Given the description of an element on the screen output the (x, y) to click on. 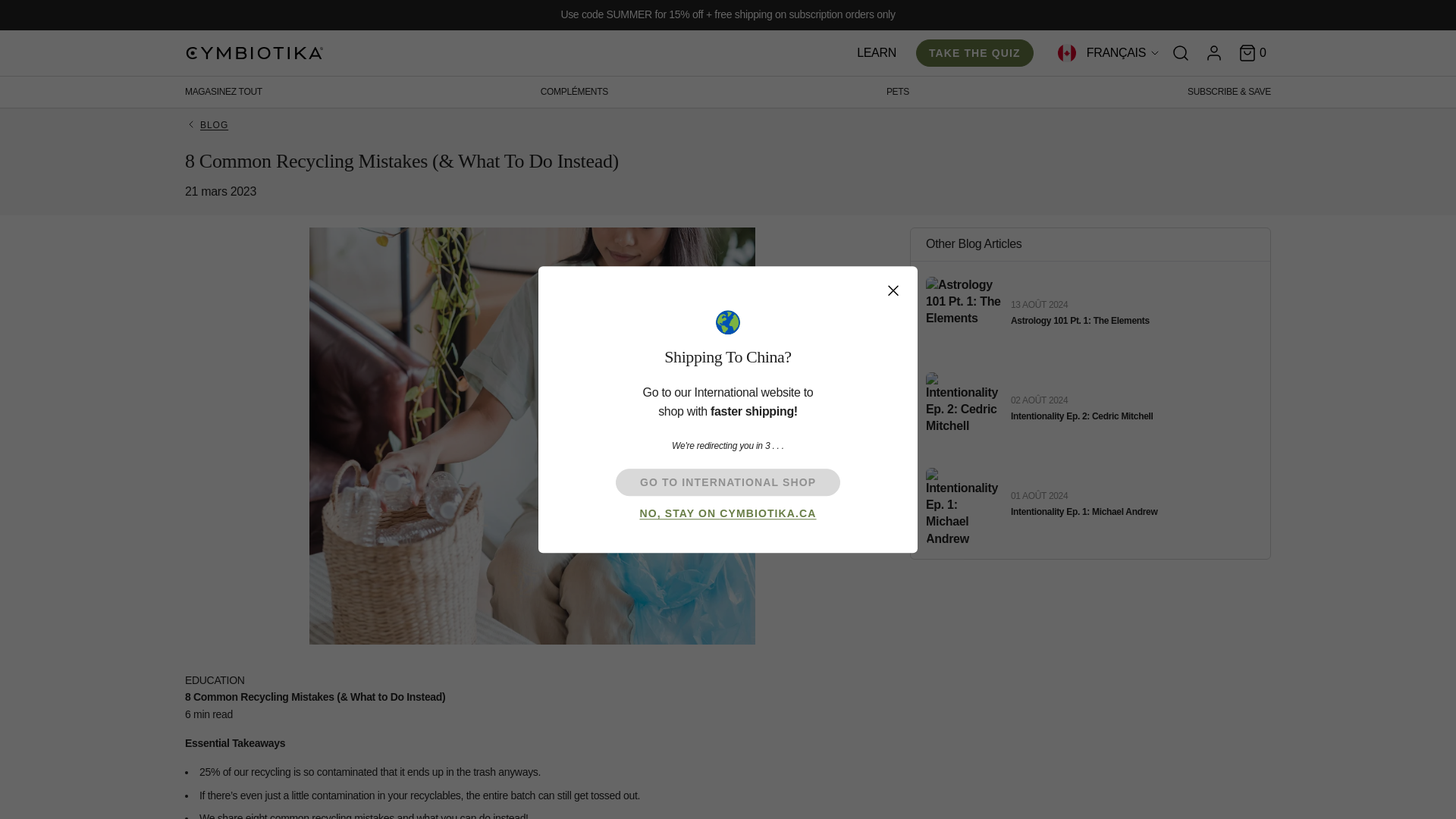
NO, STAY ON CYMBIOTIKA.CA (727, 513)
TAKE THE QUIZ (974, 52)
Take our Quiz (974, 52)
en (1131, 91)
Sign in (1213, 52)
GO TO INTERNATIONAL SHOP (727, 482)
